Given the description of an element on the screen output the (x, y) to click on. 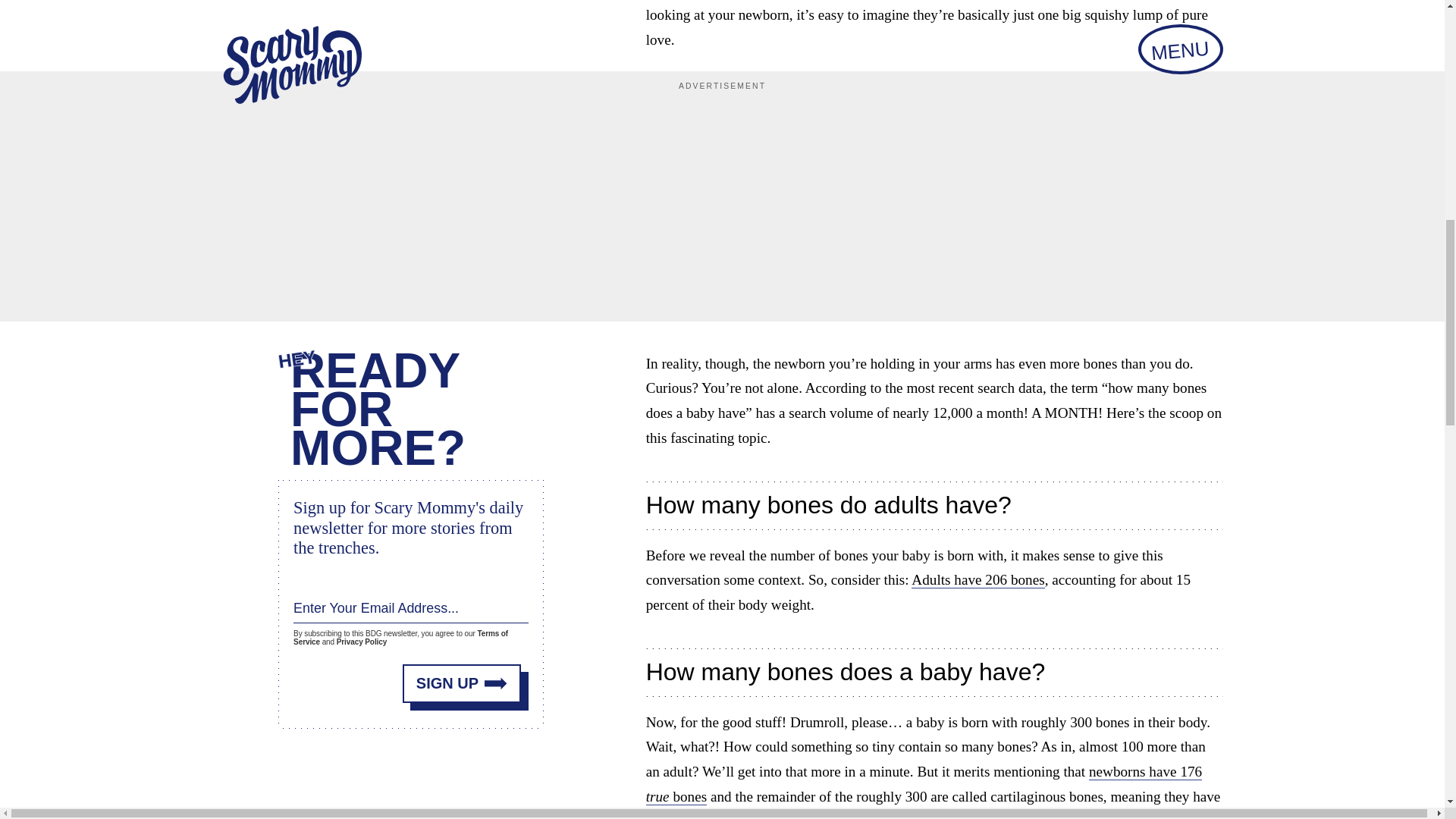
SIGN UP (462, 683)
Adults have 206 bones (977, 579)
newborns have 176 true bones (924, 784)
Terms of Service (401, 637)
Privacy Policy (361, 642)
